Given the description of an element on the screen output the (x, y) to click on. 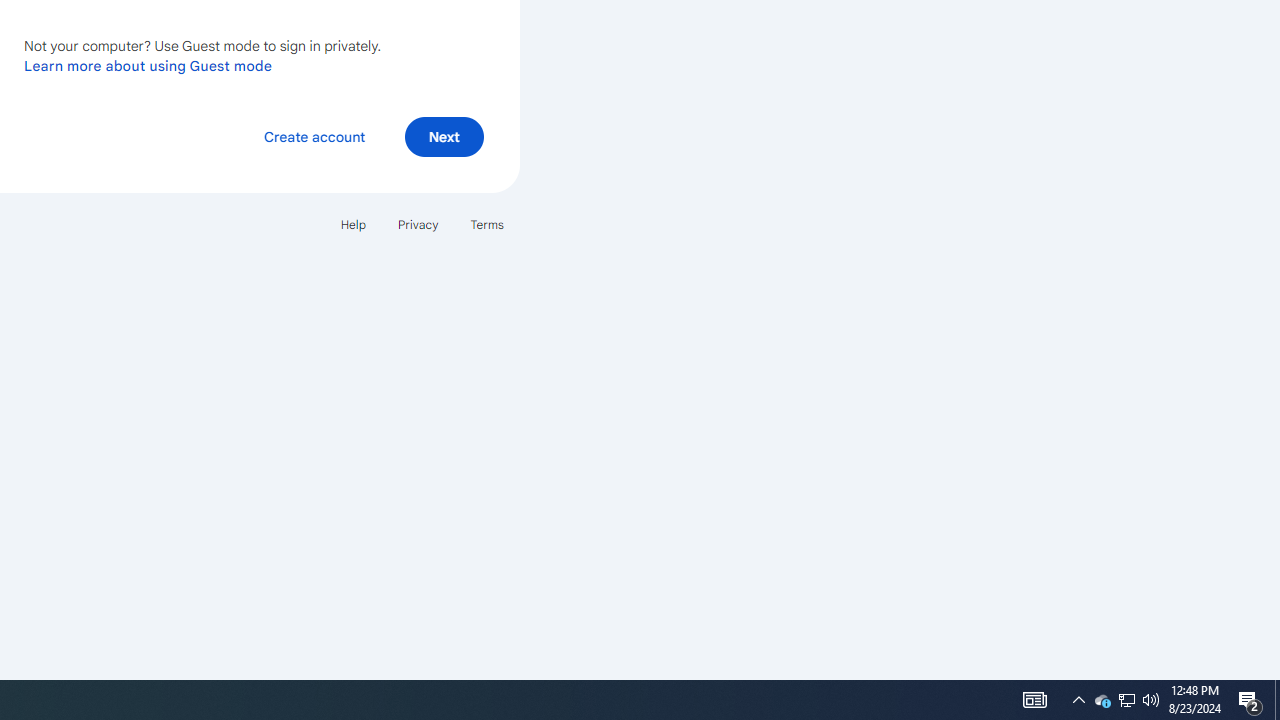
Create account (314, 135)
Learn more about using Guest mode (148, 65)
